Given the description of an element on the screen output the (x, y) to click on. 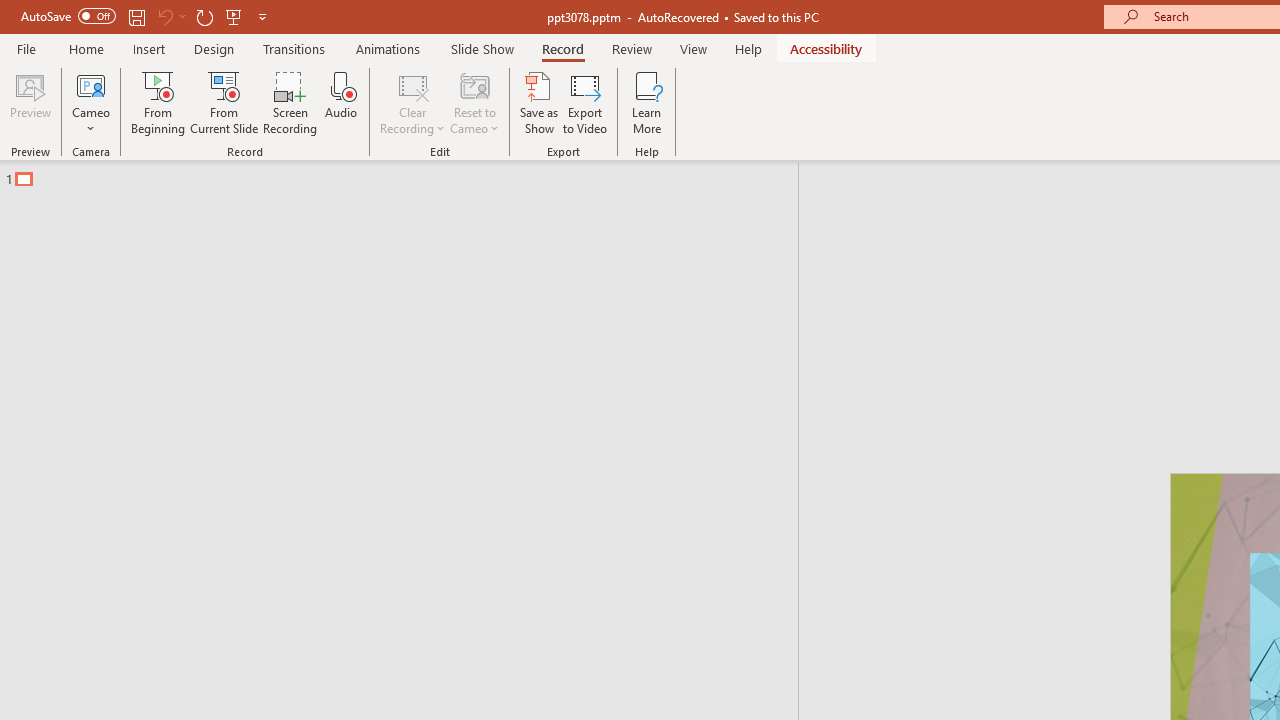
Audio (341, 102)
Export to Video (585, 102)
Save as Show (539, 102)
From Beginning... (158, 102)
Preview (30, 102)
Clear Recording (412, 102)
From Current Slide... (224, 102)
